Given the description of an element on the screen output the (x, y) to click on. 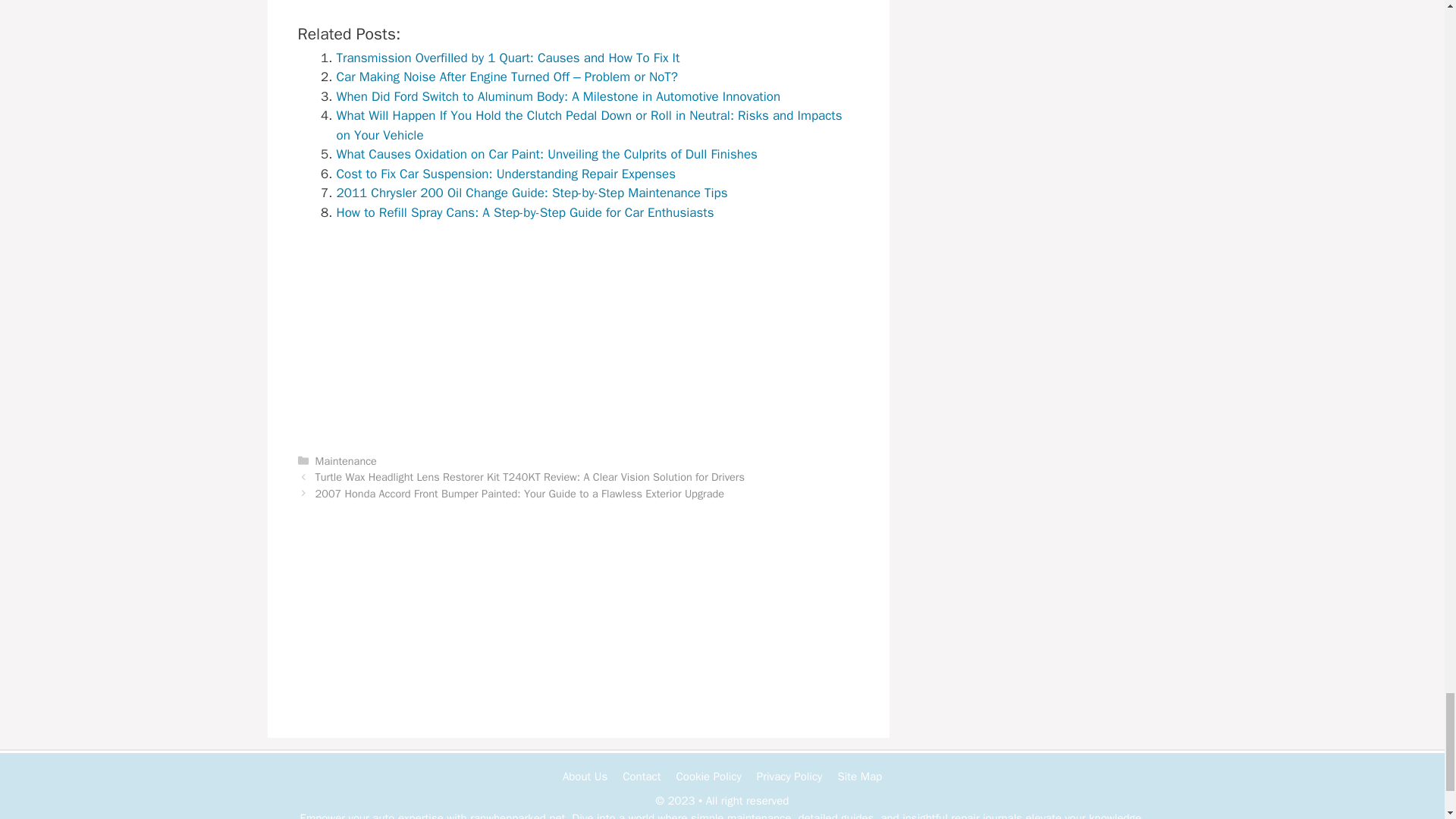
Transmission Overfilled by 1 Quart: Causes and How To Fix It (507, 57)
Cost to Fix Car Suspension: Understanding Repair Expenses (505, 173)
